Given the description of an element on the screen output the (x, y) to click on. 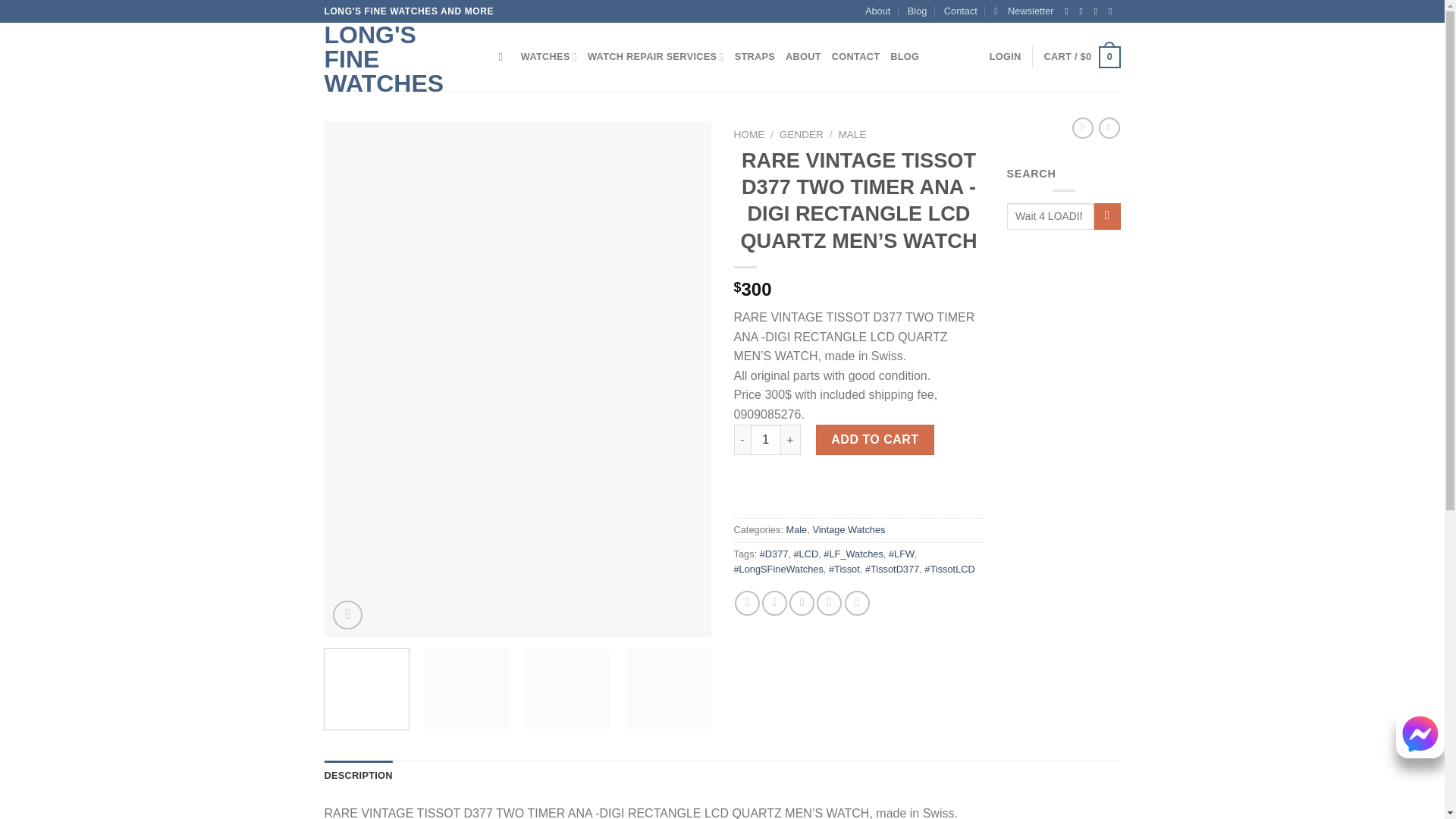
Sign up for Newsletter (1023, 11)
LOGIN (1006, 56)
WATCH REPAIR SERVICES (655, 56)
ABOUT (803, 56)
Newsletter (1023, 11)
About (876, 11)
1 (765, 440)
Contact (959, 11)
LONG'S FINE WATCHES (400, 58)
